Given the description of an element on the screen output the (x, y) to click on. 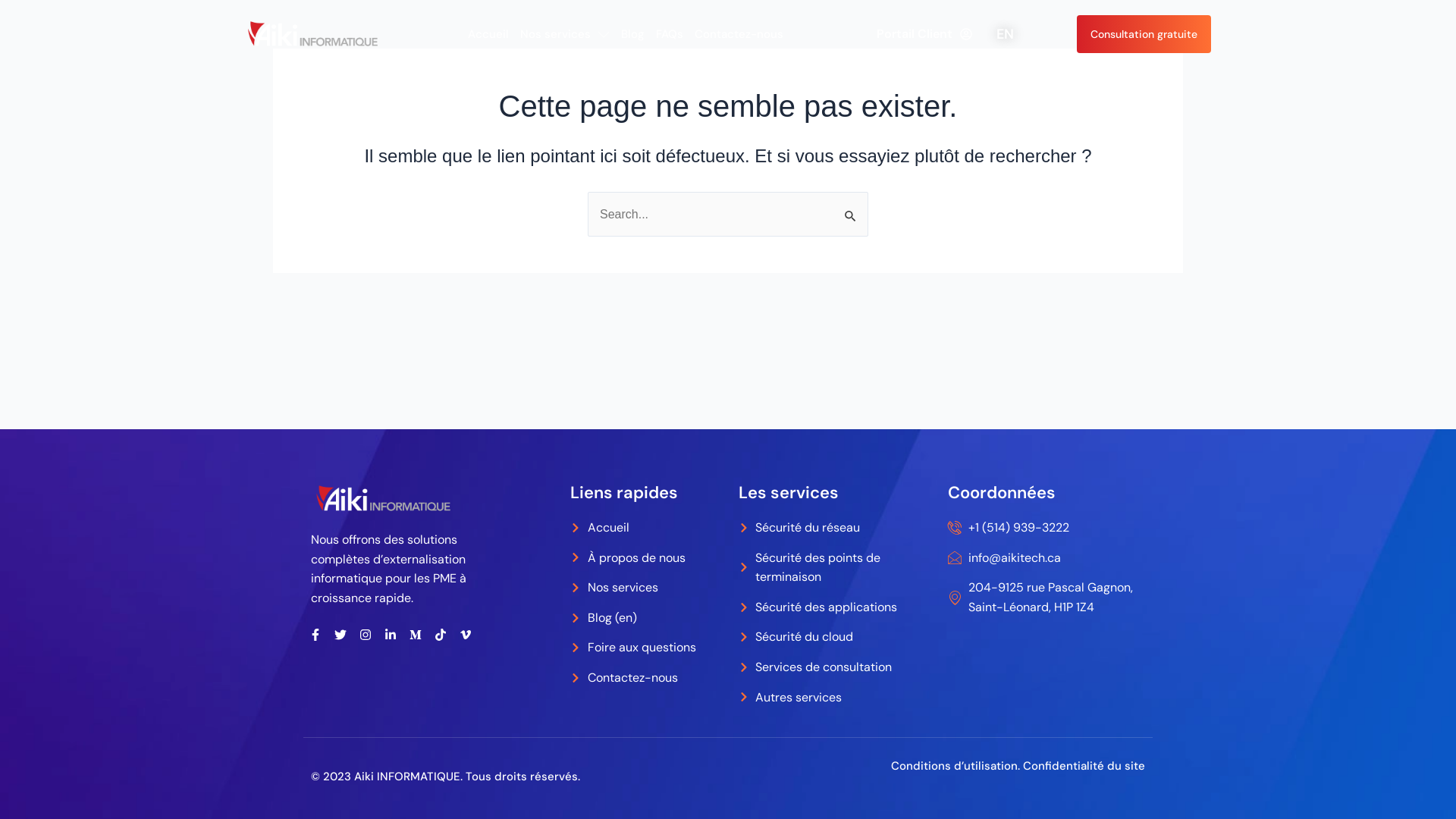
info@aikitech.ca Element type: text (1046, 557)
Tiktok Element type: text (440, 634)
Nos services Element type: text (646, 587)
Vimeo-v Element type: text (465, 634)
Portail Client Element type: text (924, 33)
Blog Element type: text (632, 33)
Blog (en) Element type: text (646, 617)
Instagram Element type: text (365, 634)
Facebook-f Element type: text (315, 634)
Twitter Element type: text (340, 634)
Recherche Element type: text (851, 207)
Accueil Element type: text (487, 33)
Accueil Element type: text (646, 527)
Medium-m Element type: text (415, 634)
Consultation gratuite Element type: text (1143, 34)
Contactez-nous Element type: text (646, 677)
Linkedin-in Element type: text (390, 634)
FAQs Element type: text (669, 33)
Autres services Element type: text (835, 697)
Foire aux questions Element type: text (646, 647)
EN Element type: text (1004, 34)
Contactez-nous Element type: text (738, 33)
Services de consultation Element type: text (835, 667)
Nos services Element type: text (564, 33)
+1 (514) 939-3222 Element type: text (1046, 527)
